Given the description of an element on the screen output the (x, y) to click on. 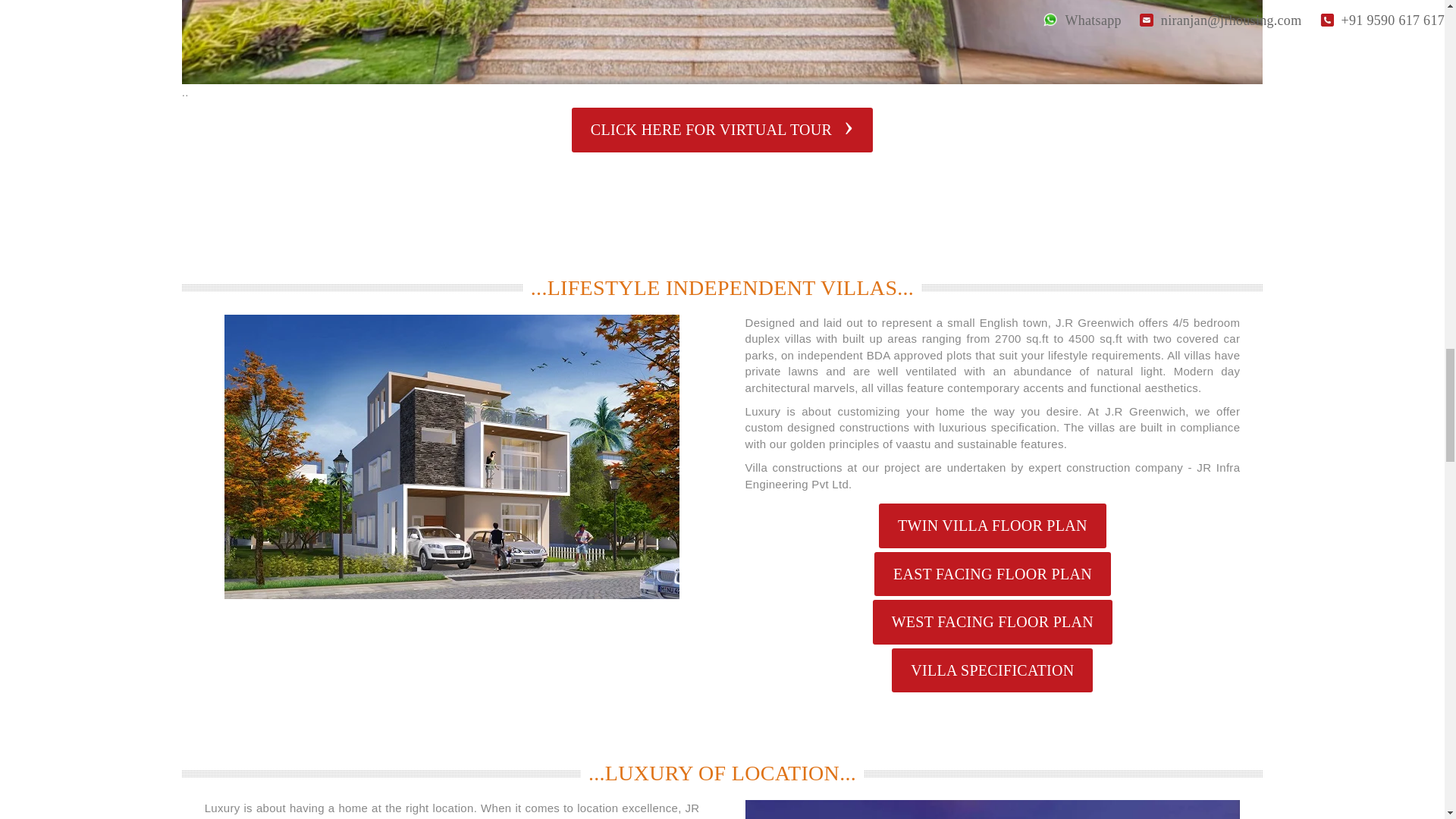
Township close to BDA Peripheral Ring Road (992, 809)
Virtual tour of  Club house at JR Greenwich (722, 129)
TWIN VILLA FLOOR PLAN (992, 525)
WEST FACING FLOOR PLAN (992, 621)
Villa township with well grown trees and abundant greens (722, 42)
EAST FACING FLOOR PLAN (992, 574)
VILLA SPECIFICATION (992, 670)
